Given the description of an element on the screen output the (x, y) to click on. 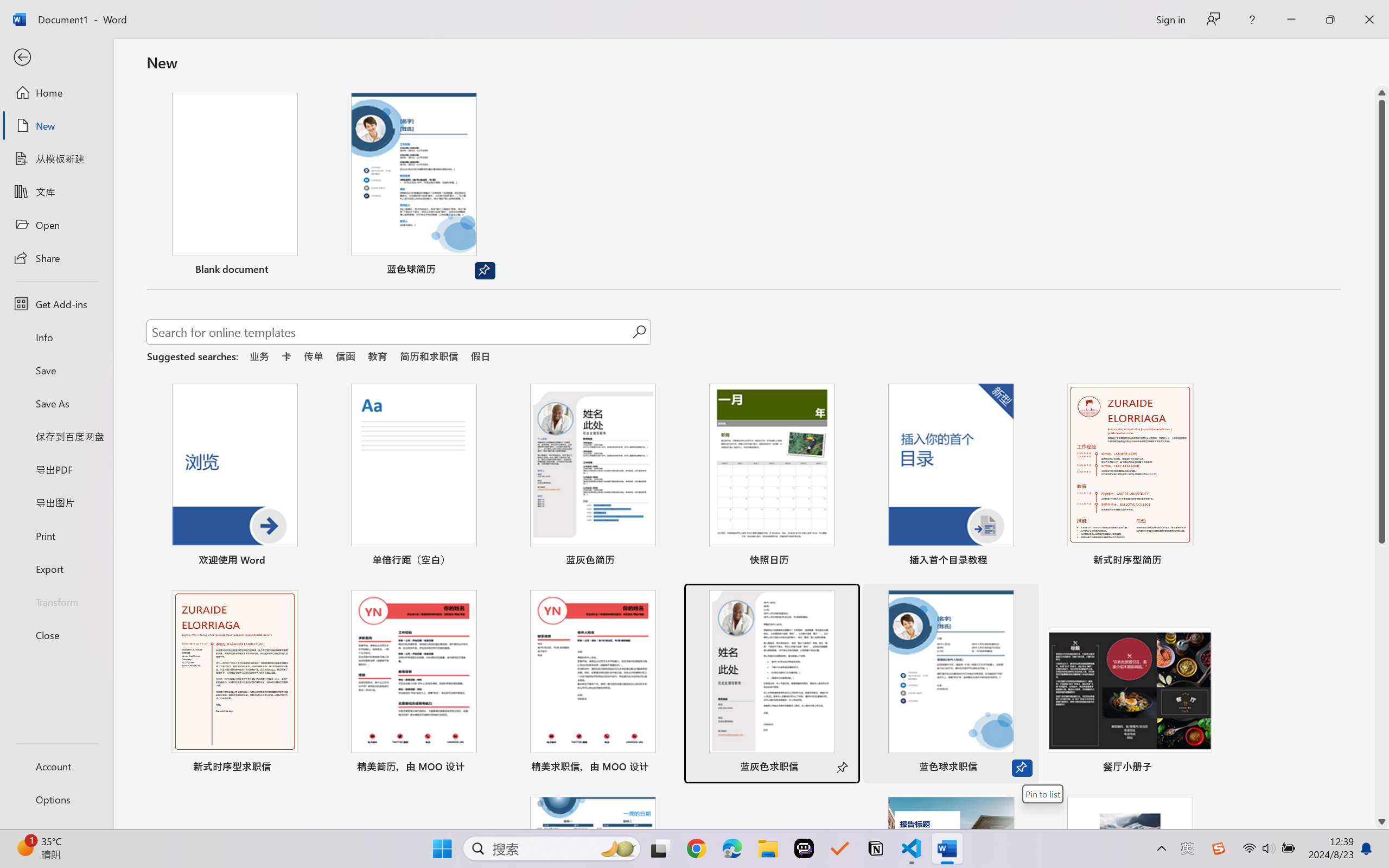
Save As (56, 403)
Unpin from list (485, 270)
Search for online templates (389, 333)
